Given the description of an element on the screen output the (x, y) to click on. 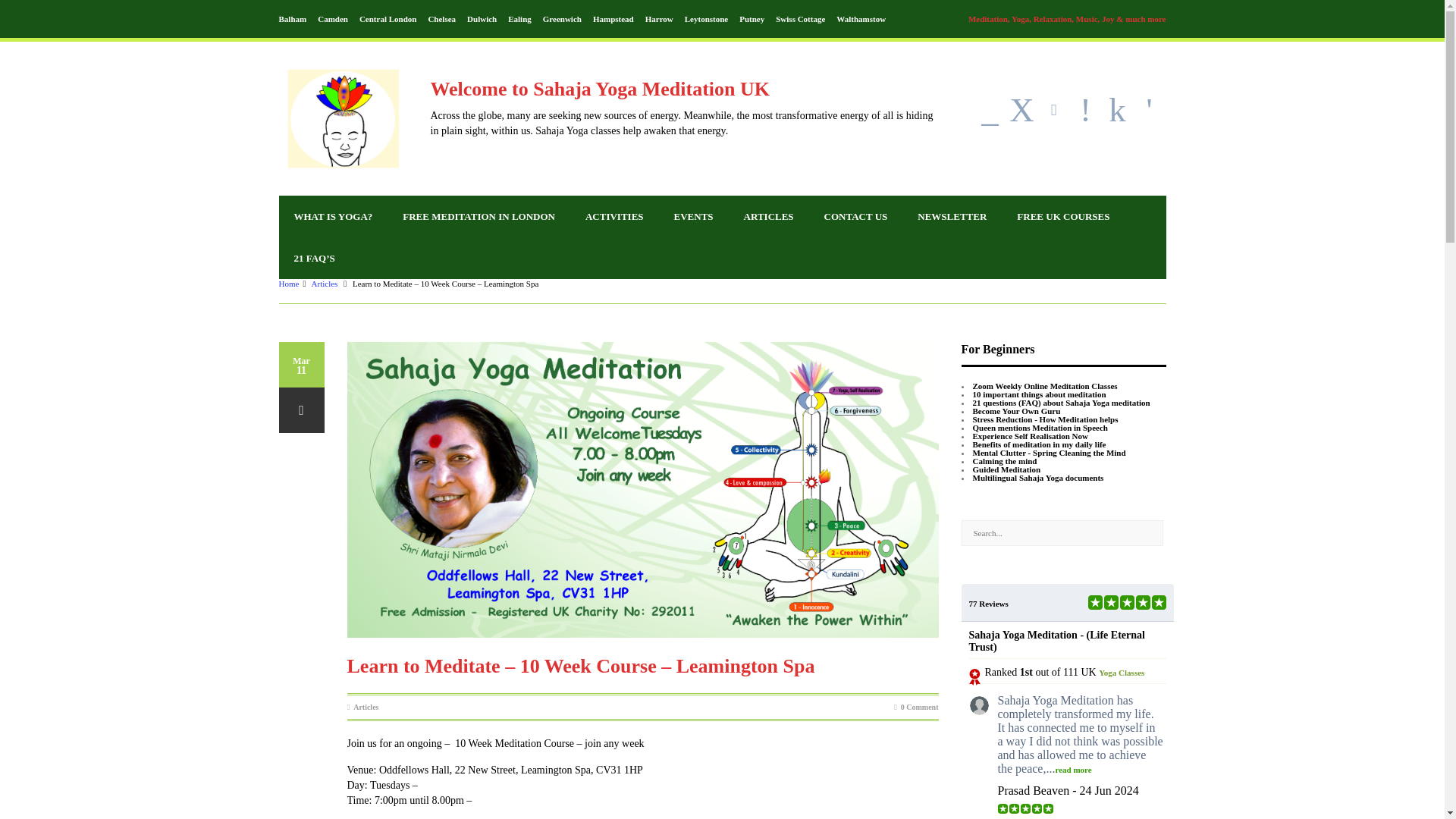
X (1021, 110)
Vimeo (1085, 110)
Facebook (1021, 110)
Balham (293, 18)
Putney (751, 18)
Harrow (658, 18)
Leytonstone (706, 18)
Youtube (1148, 110)
Mental Clutter - Spring Cleaning the Mind (1048, 452)
Camden (332, 18)
